Given the description of an element on the screen output the (x, y) to click on. 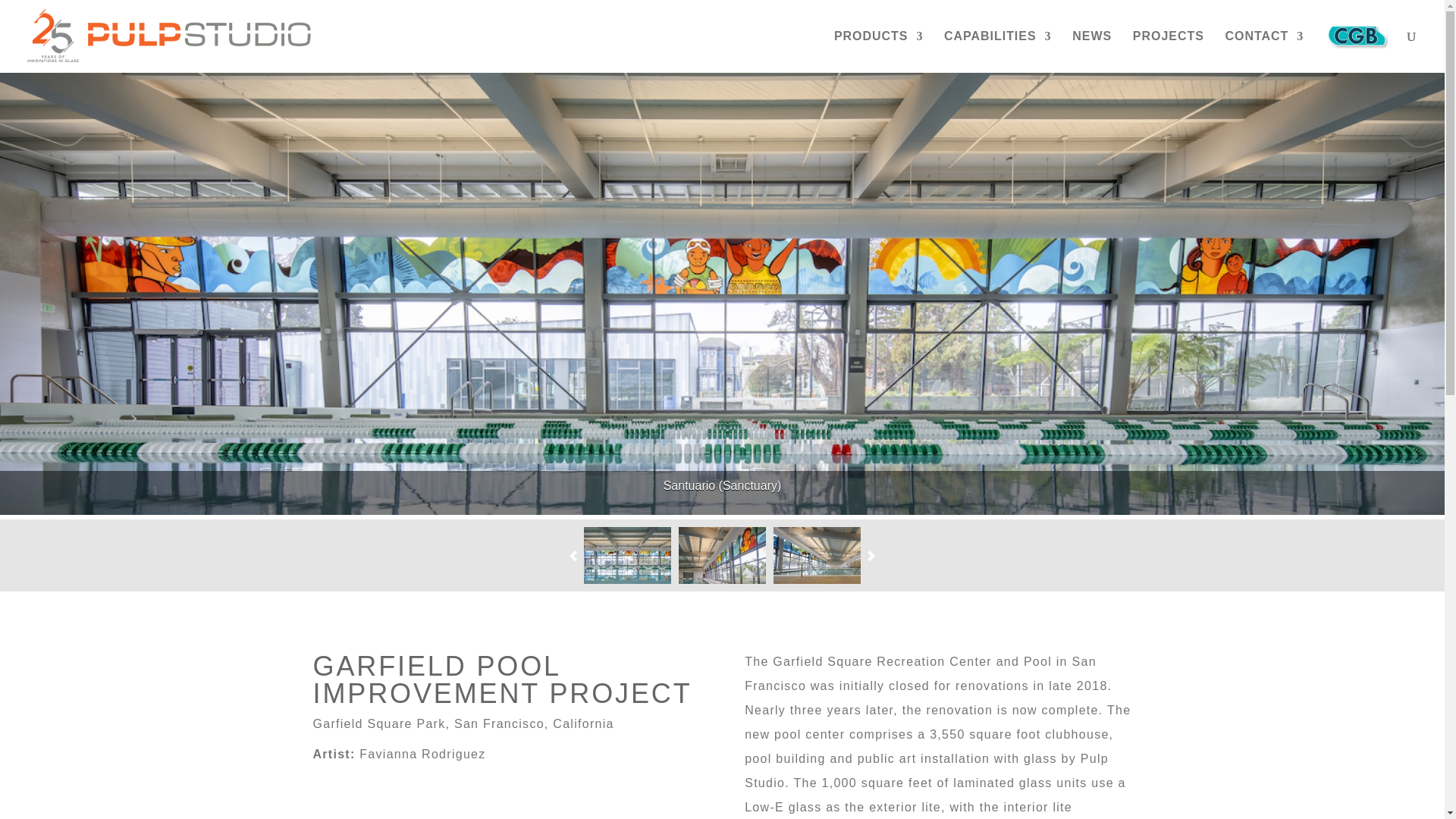
CAPABILITIES (997, 48)
PROJECTS (1168, 48)
NEWS (1091, 48)
CALIFORNIA GLASS BENDING (1357, 42)
California Glass Bending (1357, 42)
CONTACT (1264, 48)
PRODUCTS (878, 48)
